Given the description of an element on the screen output the (x, y) to click on. 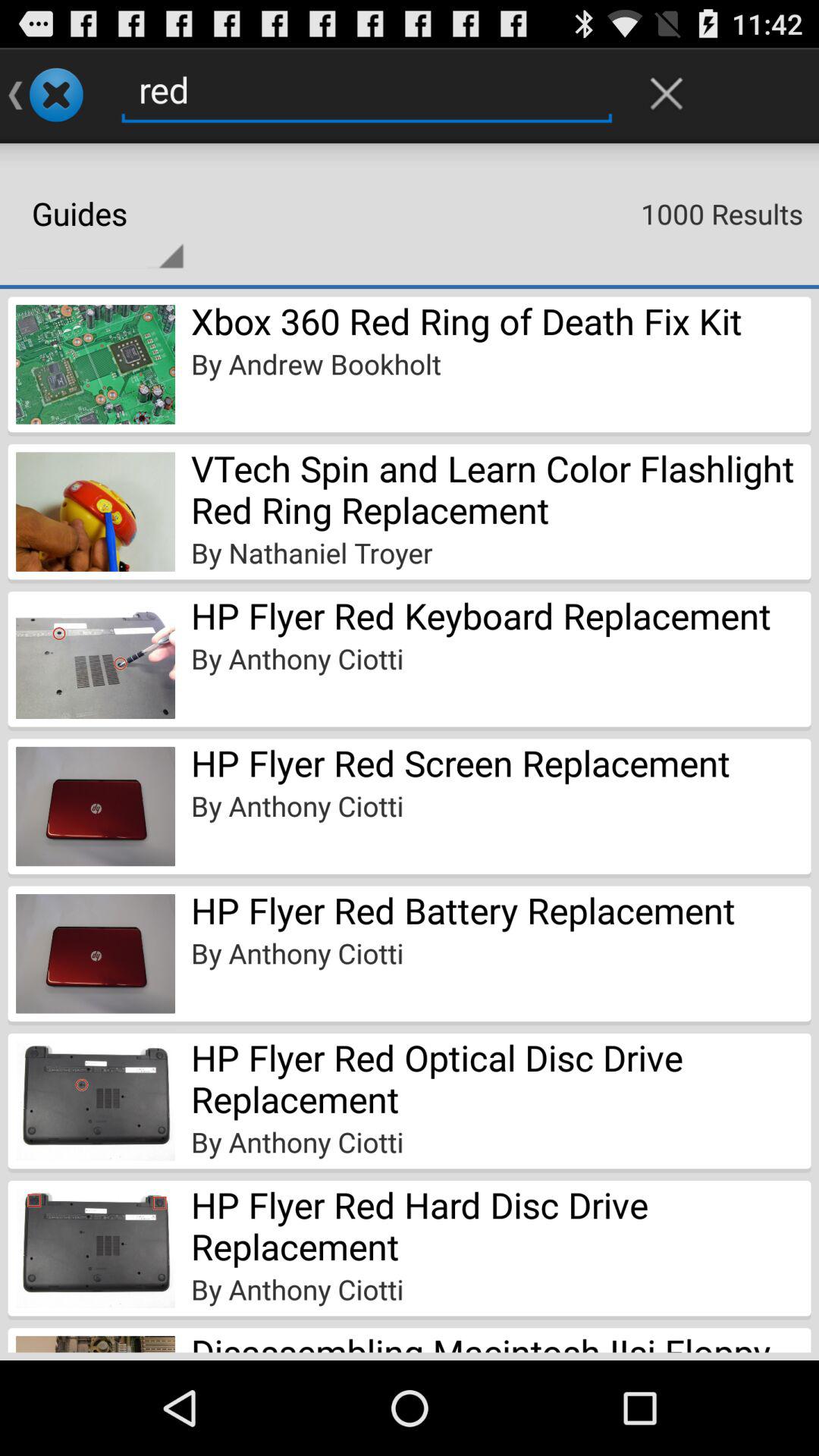
select app below by anthony ciotti icon (501, 1340)
